Given the description of an element on the screen output the (x, y) to click on. 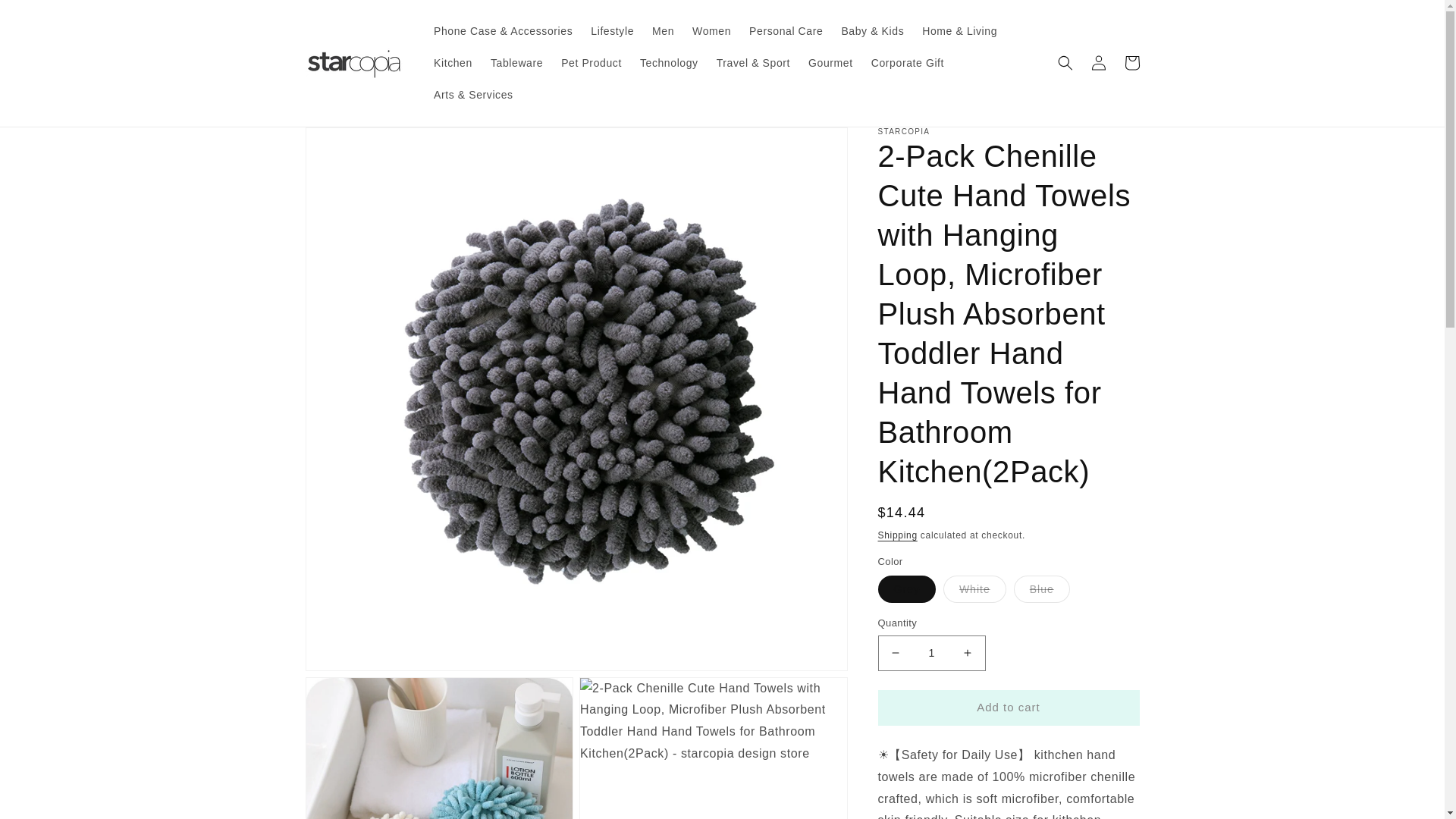
Tableware (516, 62)
Corporate Gift (907, 62)
Men (662, 30)
Women (710, 30)
Gourmet (830, 62)
Skip to content (45, 17)
1 (931, 652)
Lifestyle (611, 30)
